Given the description of an element on the screen output the (x, y) to click on. 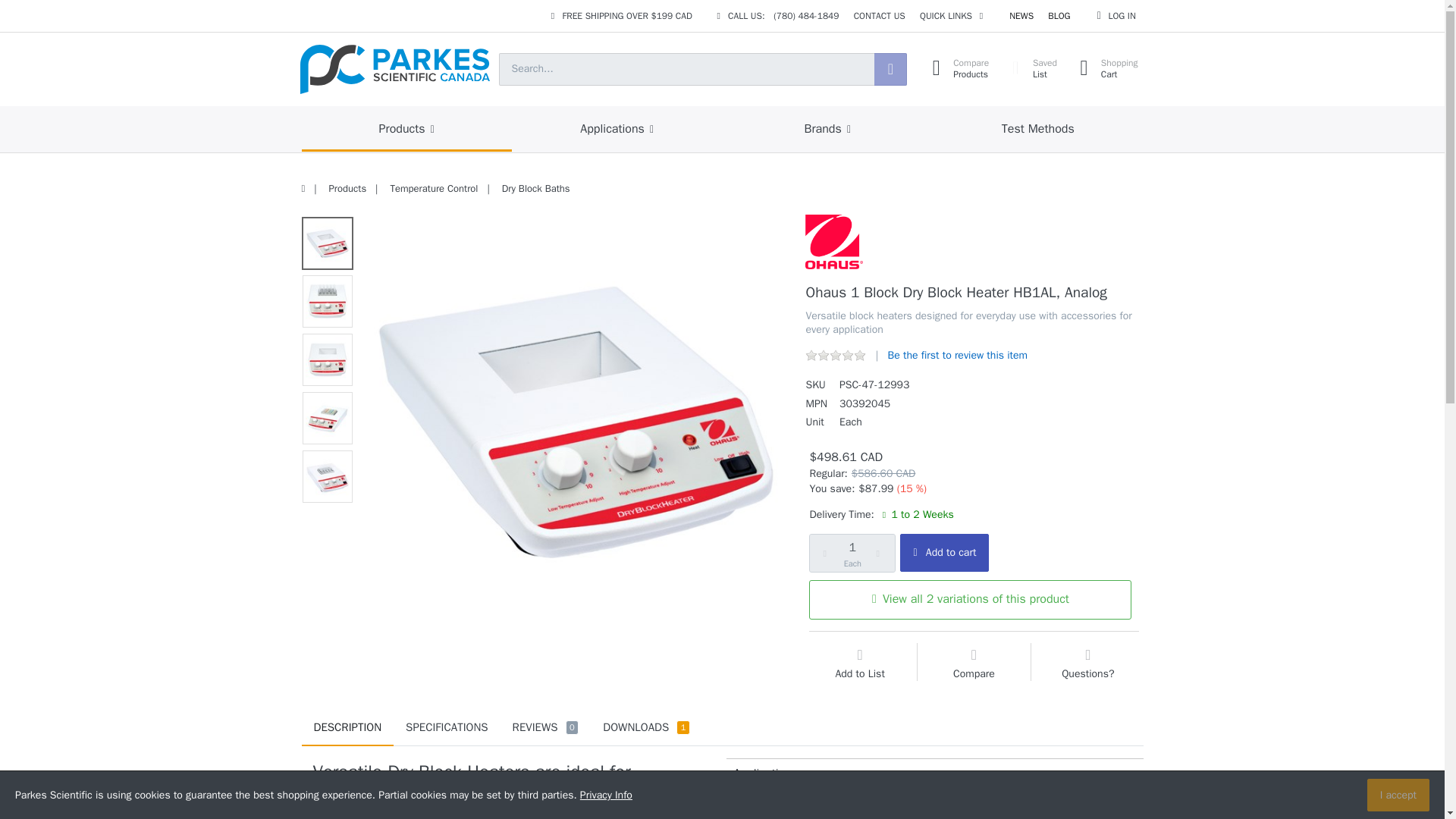
1 (852, 552)
QUICK LINKS (951, 15)
CONTACT US (878, 15)
Parkes Scientific (394, 69)
Applications (617, 129)
NEWS (1022, 15)
BLOG (1029, 69)
Search (1059, 15)
LOG IN (891, 69)
Brands (1115, 15)
Test Methods (827, 129)
Products (1037, 129)
